Given the description of an element on the screen output the (x, y) to click on. 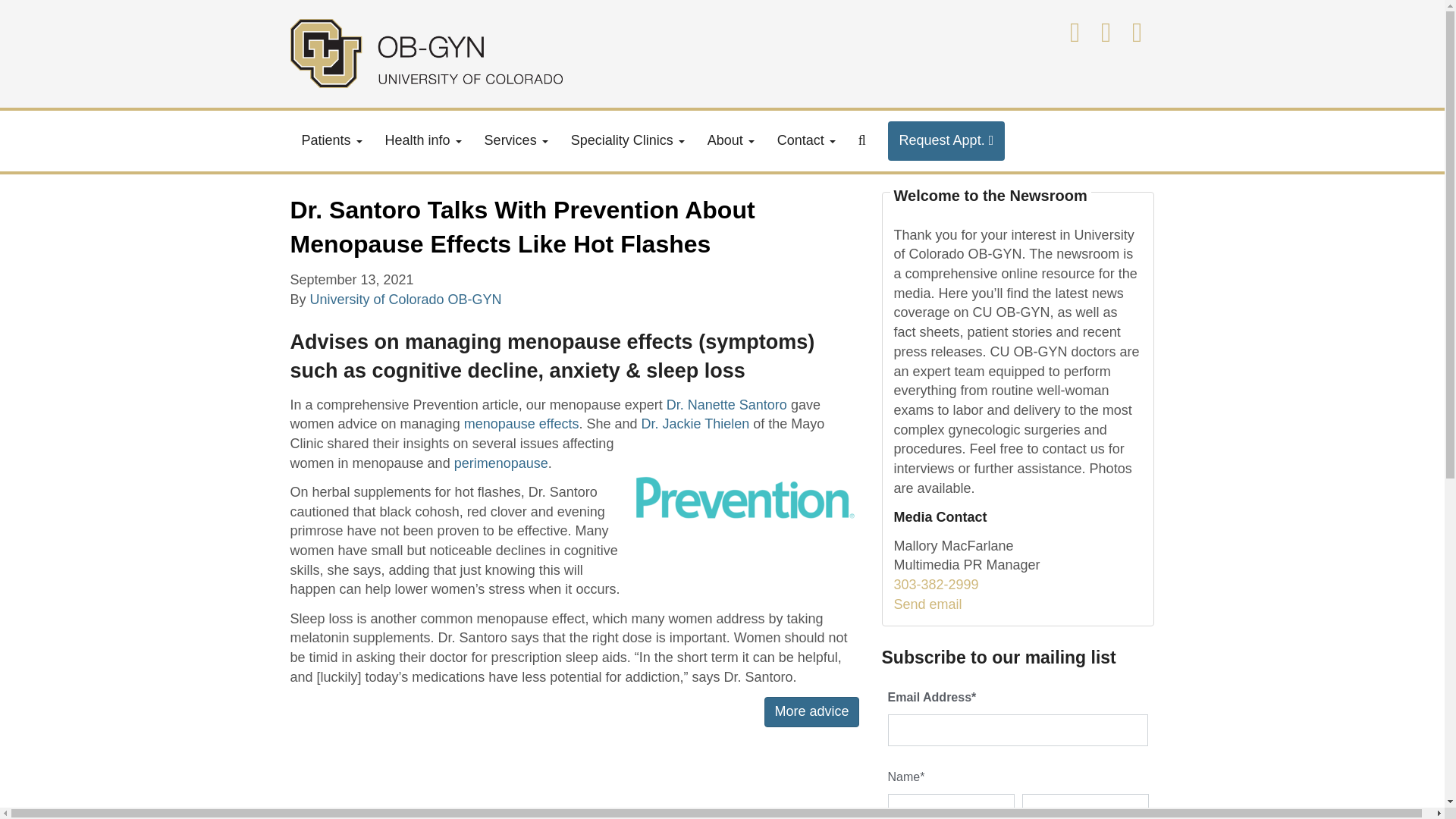
Patients (330, 140)
Health info (423, 140)
Services (516, 140)
Services (516, 140)
Speciality Clinics (627, 140)
Patients (330, 140)
Health info (423, 140)
About (730, 140)
